Given the description of an element on the screen output the (x, y) to click on. 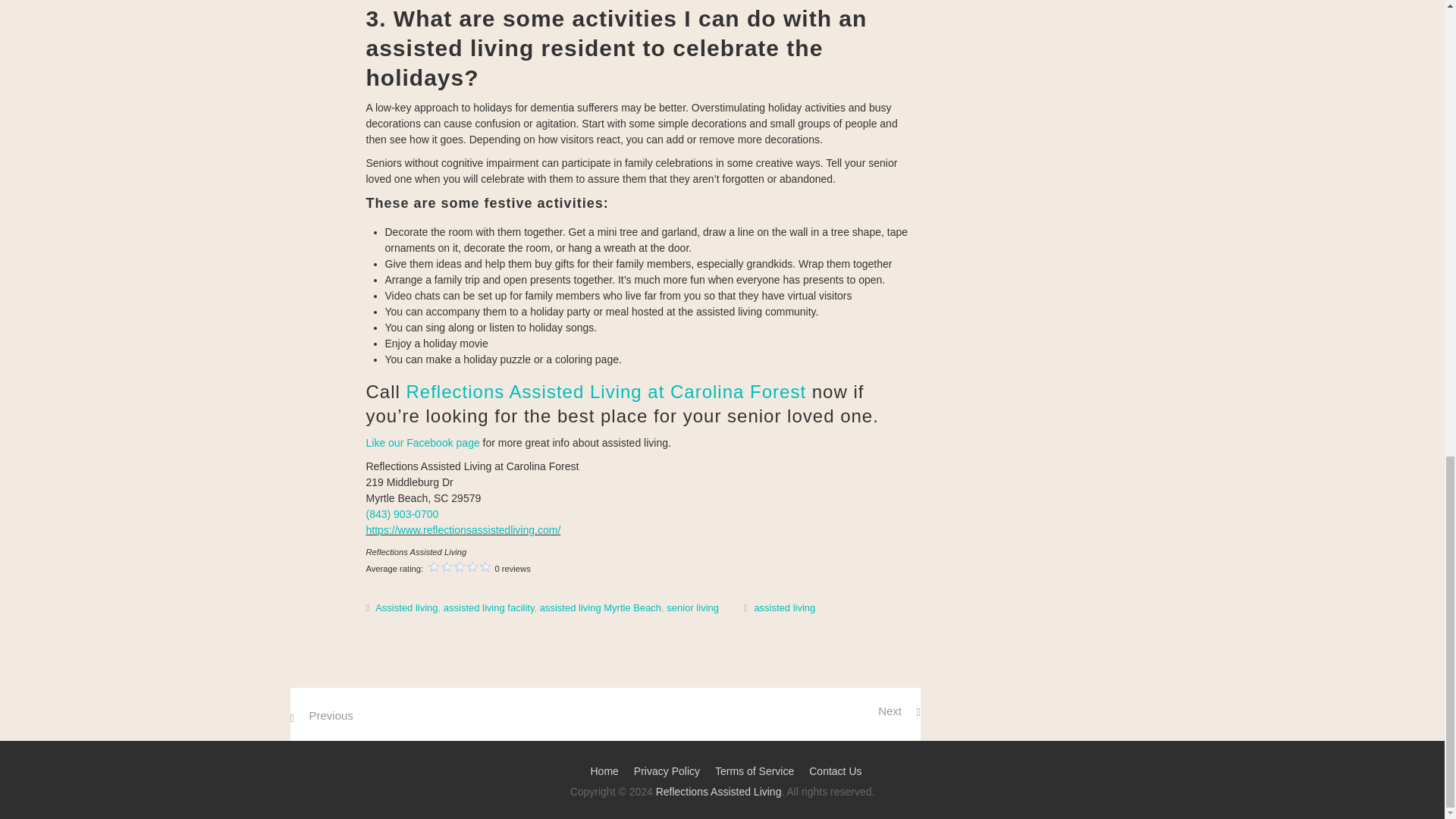
Reflections Assisted Living at Carolina Forest (606, 391)
assisted living facility (489, 607)
Assisted living (406, 607)
Next (898, 711)
assisted living (784, 607)
senior living (692, 607)
assisted living Myrtle Beach (600, 607)
Previous (320, 715)
Like our Facebook page (422, 442)
